Given the description of an element on the screen output the (x, y) to click on. 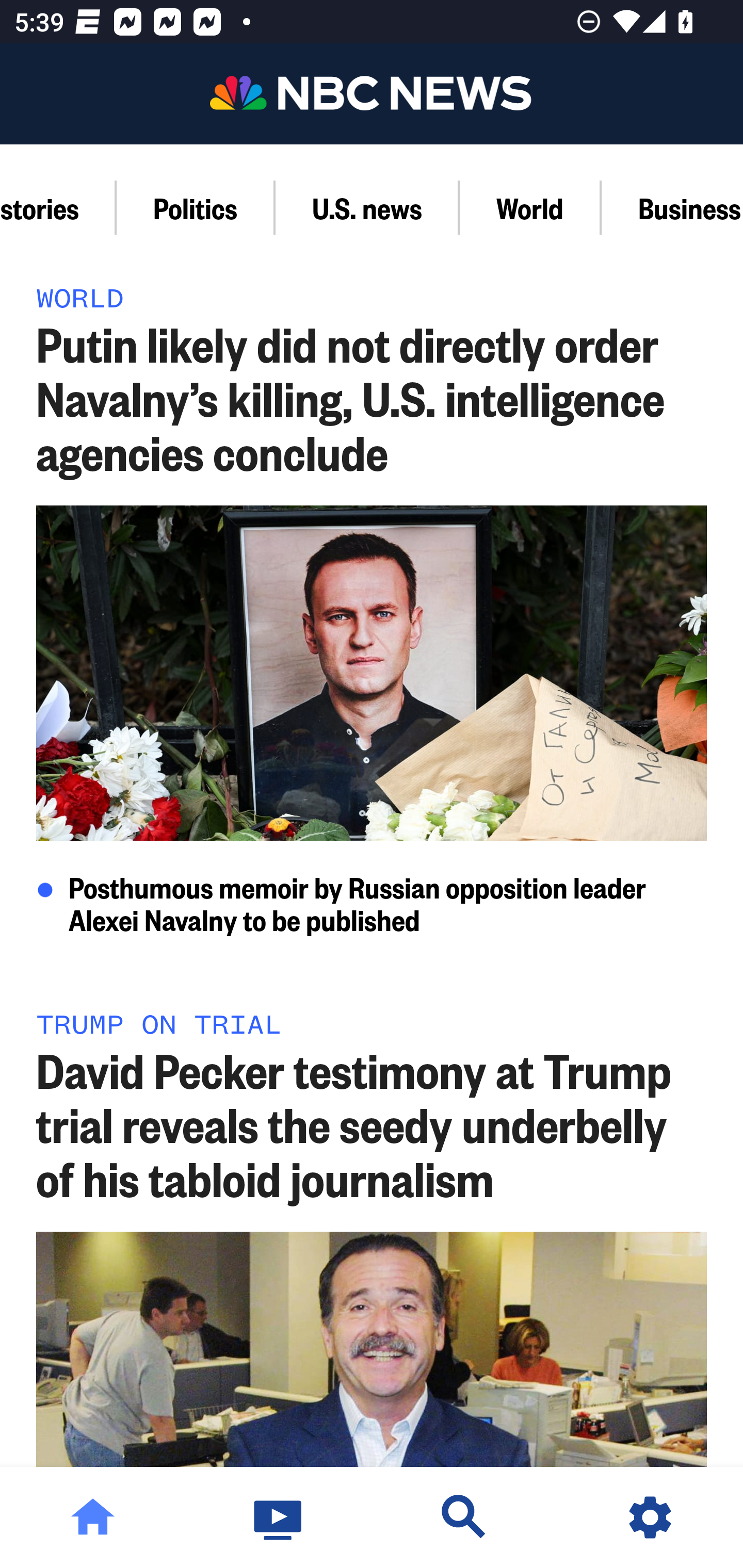
Latest stories Section,Latest stories (58, 207)
Politics Section,Politics (195, 207)
U.S. news Section,U.S. news (367, 207)
World Section,World (530, 207)
Business Section,Business (672, 207)
Watch (278, 1517)
Discover (464, 1517)
Settings (650, 1517)
